Given the description of an element on the screen output the (x, y) to click on. 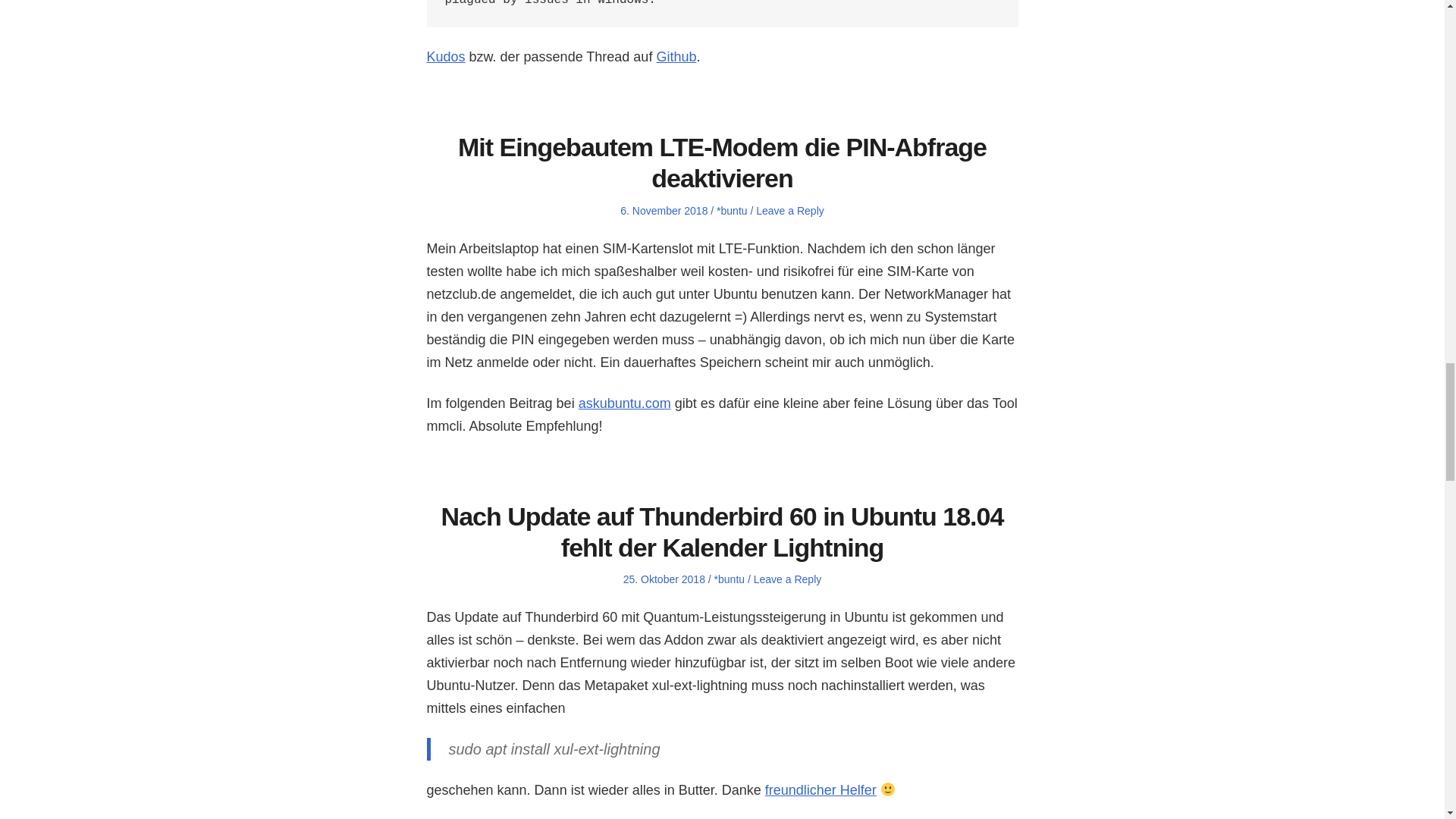
Github (675, 56)
6. November 2018 (663, 210)
Leave a Reply (788, 579)
askubuntu.com (624, 403)
freundlicher Helfer (820, 789)
Leave a Reply (789, 210)
Mit Eingebautem LTE-Modem die PIN-Abfrage deaktivieren (722, 162)
25. Oktober 2018 (663, 579)
Kudos (445, 56)
